Given the description of an element on the screen output the (x, y) to click on. 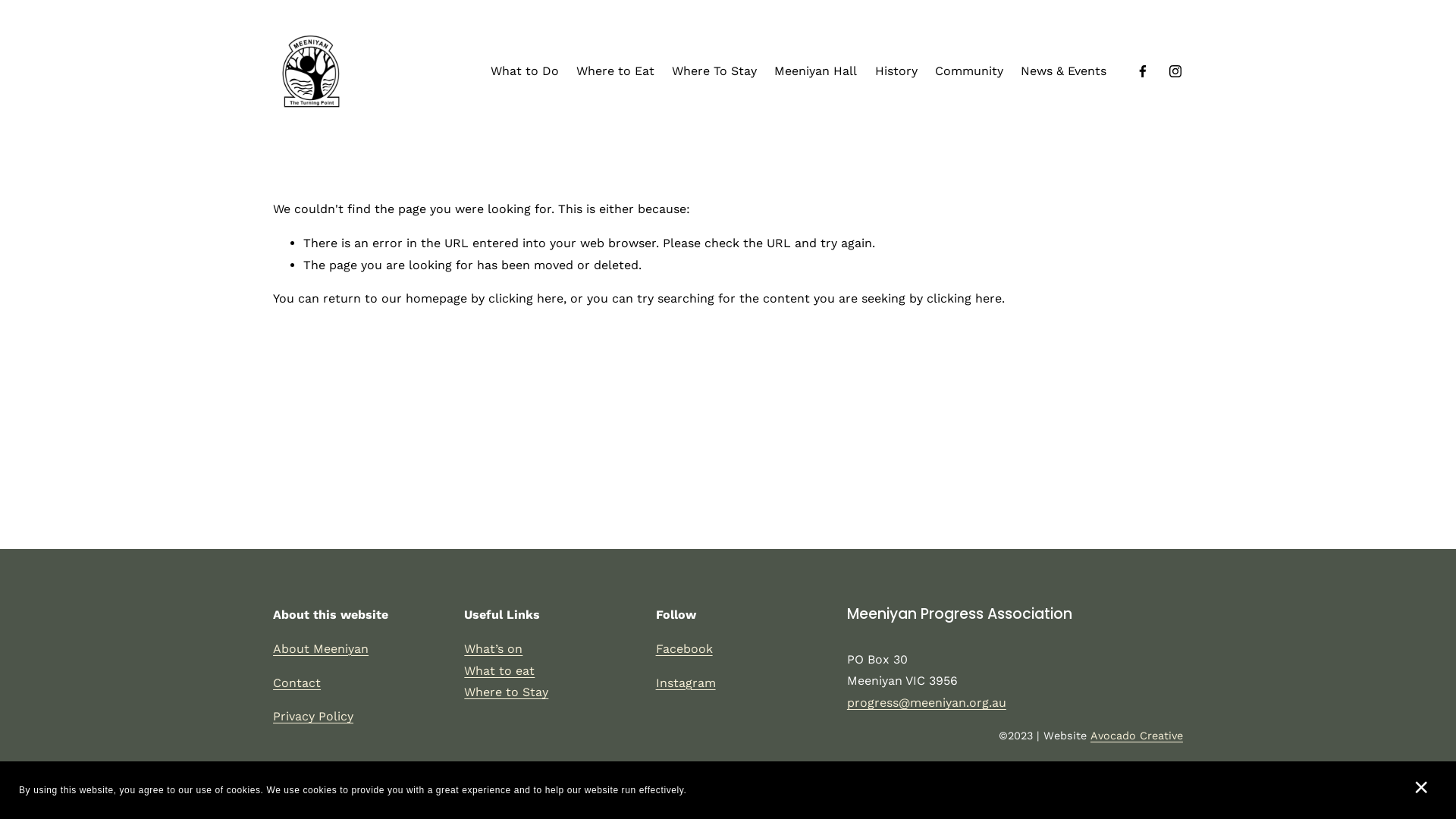
About Meeniyan Element type: text (320, 649)
clicking here Element type: text (963, 298)
Where To Stay Element type: text (713, 71)
Privacy Policy Element type: text (313, 717)
Community Element type: text (969, 71)
clicking here Element type: text (525, 298)
Avocado Creative Element type: text (1136, 736)
Contact Element type: text (296, 682)
progress@meeniyan.org.au Element type: text (926, 703)
Meeniyan Hall Element type: text (815, 71)
Where to Eat Element type: text (615, 71)
Facebook Element type: text (683, 649)
Where to Stay Element type: text (506, 692)
News & Events Element type: text (1063, 71)
What to eat Element type: text (499, 670)
Instagram Element type: text (685, 682)
History Element type: text (896, 71)
What to Do Element type: text (524, 71)
